Given the description of an element on the screen output the (x, y) to click on. 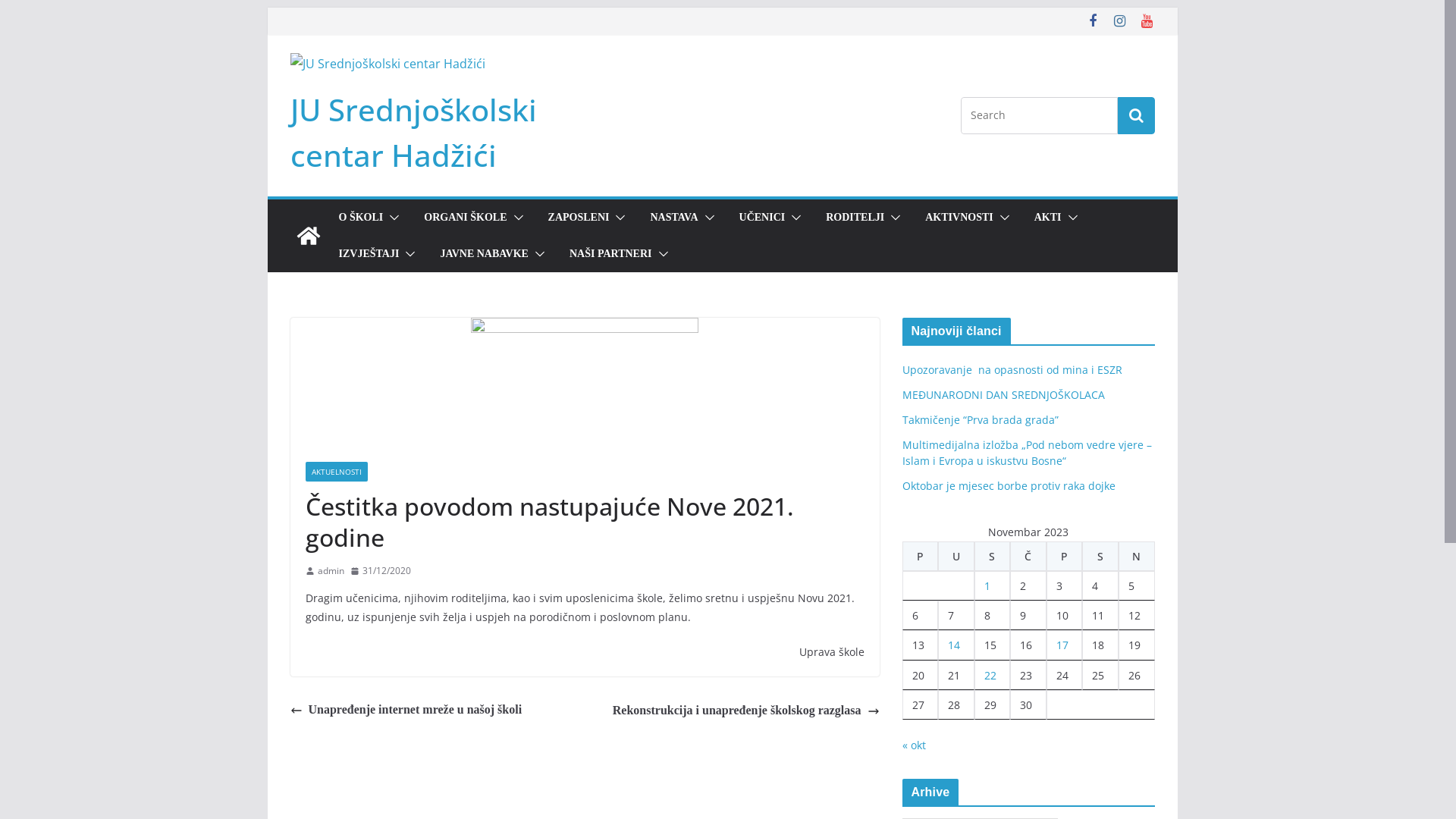
Upozoravanje  na opasnosti od mina i ESZR Element type: text (1012, 369)
AKTI Element type: text (1047, 217)
22 Element type: text (990, 675)
Skip to content Element type: text (266, 6)
Oktobar je mjesec borbe protiv raka dojke Element type: text (1008, 485)
admin Element type: text (329, 570)
1 Element type: text (987, 585)
14 Element type: text (953, 644)
NASTAVA Element type: text (673, 217)
AKTUELNOSTI Element type: text (335, 471)
31/12/2020 Element type: text (380, 570)
JAVNE NABAVKE Element type: text (483, 253)
AKTIVNOSTI Element type: text (958, 217)
RODITELJI Element type: text (854, 217)
ZAPOSLENI Element type: text (578, 217)
17 Element type: text (1062, 644)
